Given the description of an element on the screen output the (x, y) to click on. 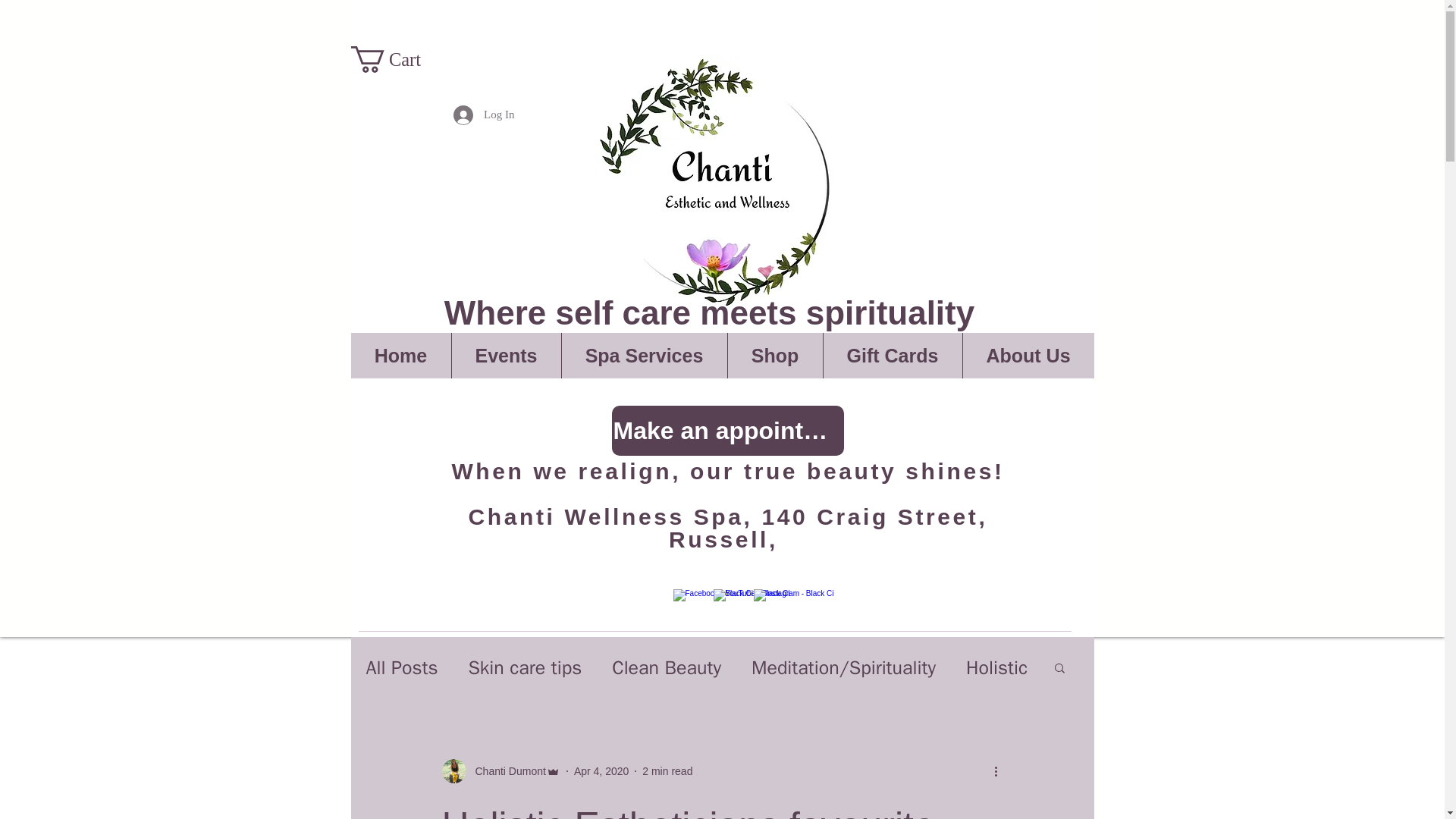
Apr 4, 2020 (600, 770)
Skin care tips (523, 667)
About Us (1026, 355)
Log In (483, 113)
Chanti Dumont (500, 770)
Make an appointment (727, 430)
All Posts (401, 667)
Chanti Dumont (504, 770)
Gift Cards (891, 355)
Cart (398, 58)
Shop (774, 355)
Spa Services (643, 355)
2 min read (667, 770)
Holistic (996, 667)
Events (504, 355)
